Given the description of an element on the screen output the (x, y) to click on. 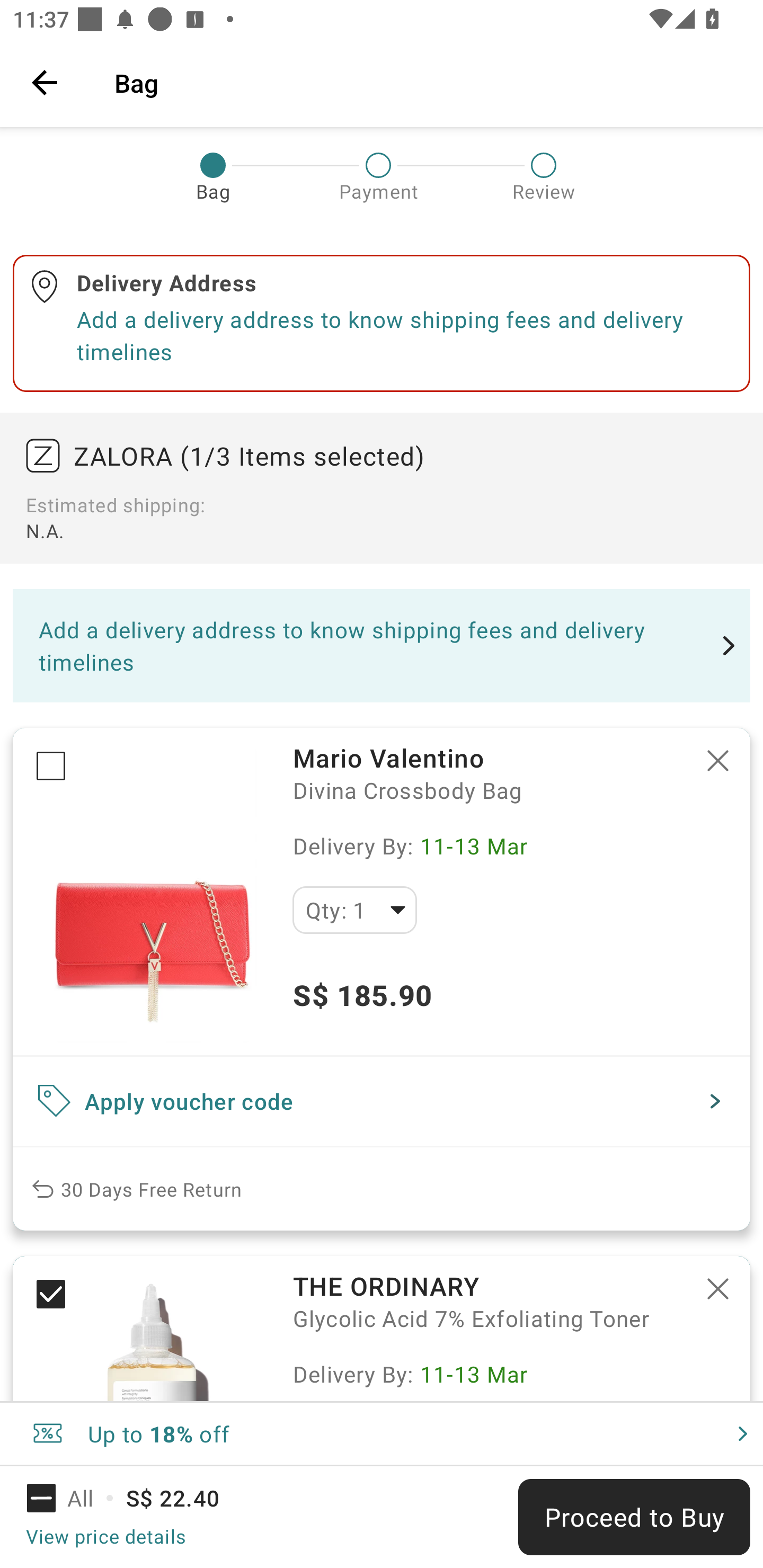
Navigate up (44, 82)
Bag (426, 82)
Qty: 1 (354, 909)
Apply voucher code (381, 1101)
Up to 18% off (381, 1433)
All (72, 1497)
Proceed to Buy (634, 1516)
View price details (105, 1535)
